Given the description of an element on the screen output the (x, y) to click on. 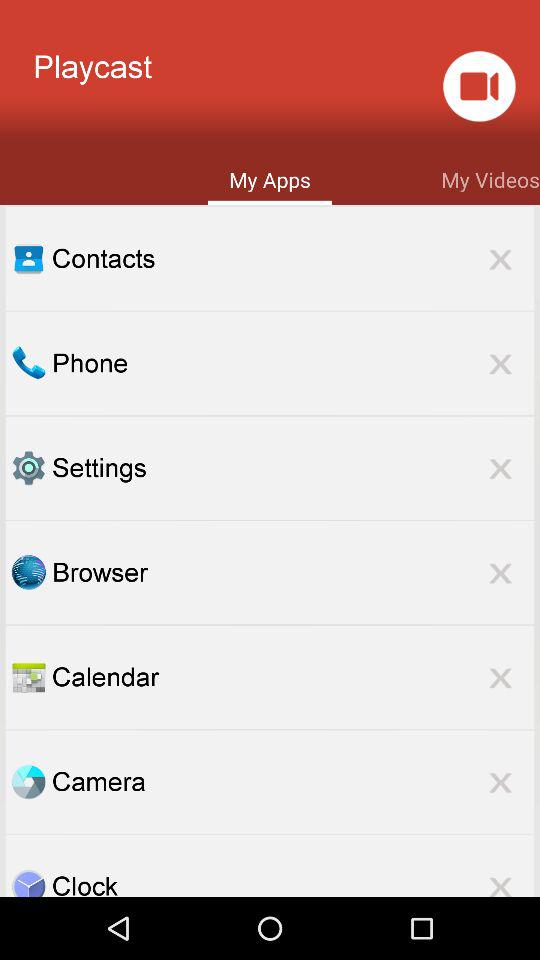
flip to the clock item (293, 882)
